Given the description of an element on the screen output the (x, y) to click on. 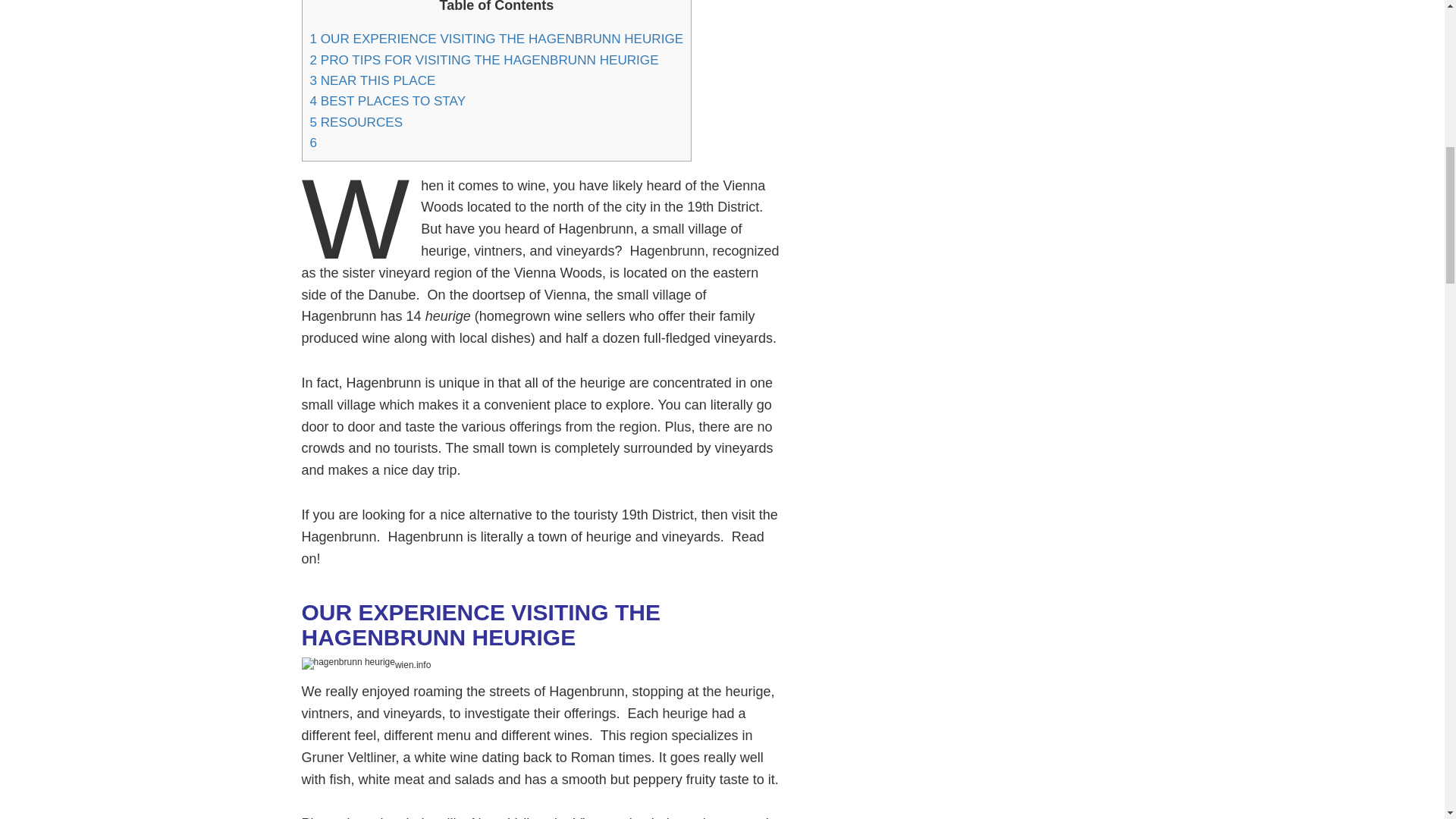
4 BEST PLACES TO STAY (386, 101)
5 RESOURCES (355, 122)
3 NEAR THIS PLACE (371, 80)
1 OUR EXPERIENCE VISITING THE HAGENBRUNN HEURIGE (495, 38)
2 PRO TIPS FOR VISITING THE HAGENBRUNN HEURIGE (483, 60)
